Given the description of an element on the screen output the (x, y) to click on. 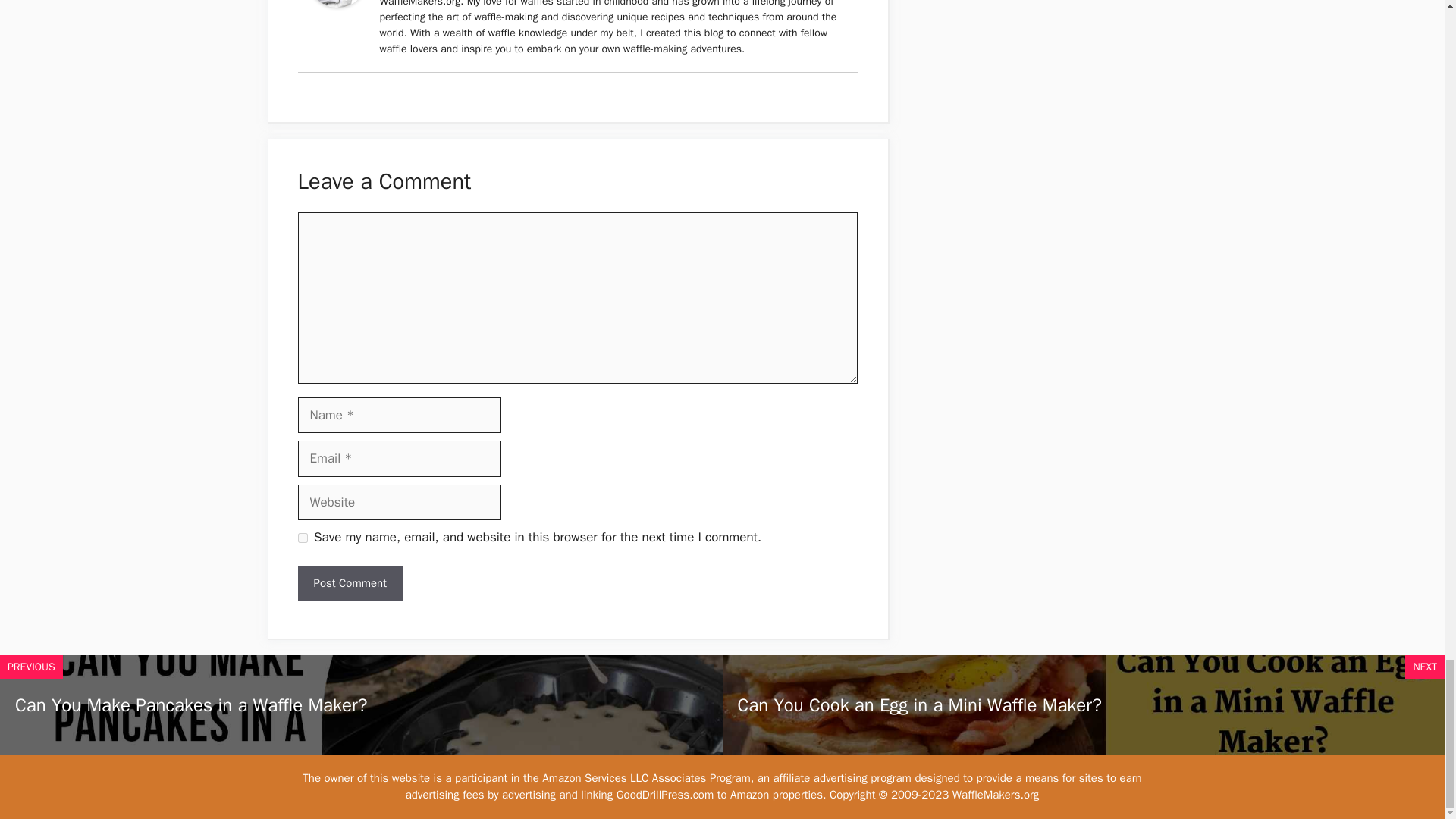
Can You Make Pancakes in a Waffle Maker? (191, 704)
Post Comment (349, 583)
Christina R. Johnson (335, 5)
yes (302, 537)
Post Comment (349, 583)
Can You Cook an Egg in a Mini Waffle Maker? (918, 704)
